Given the description of an element on the screen output the (x, y) to click on. 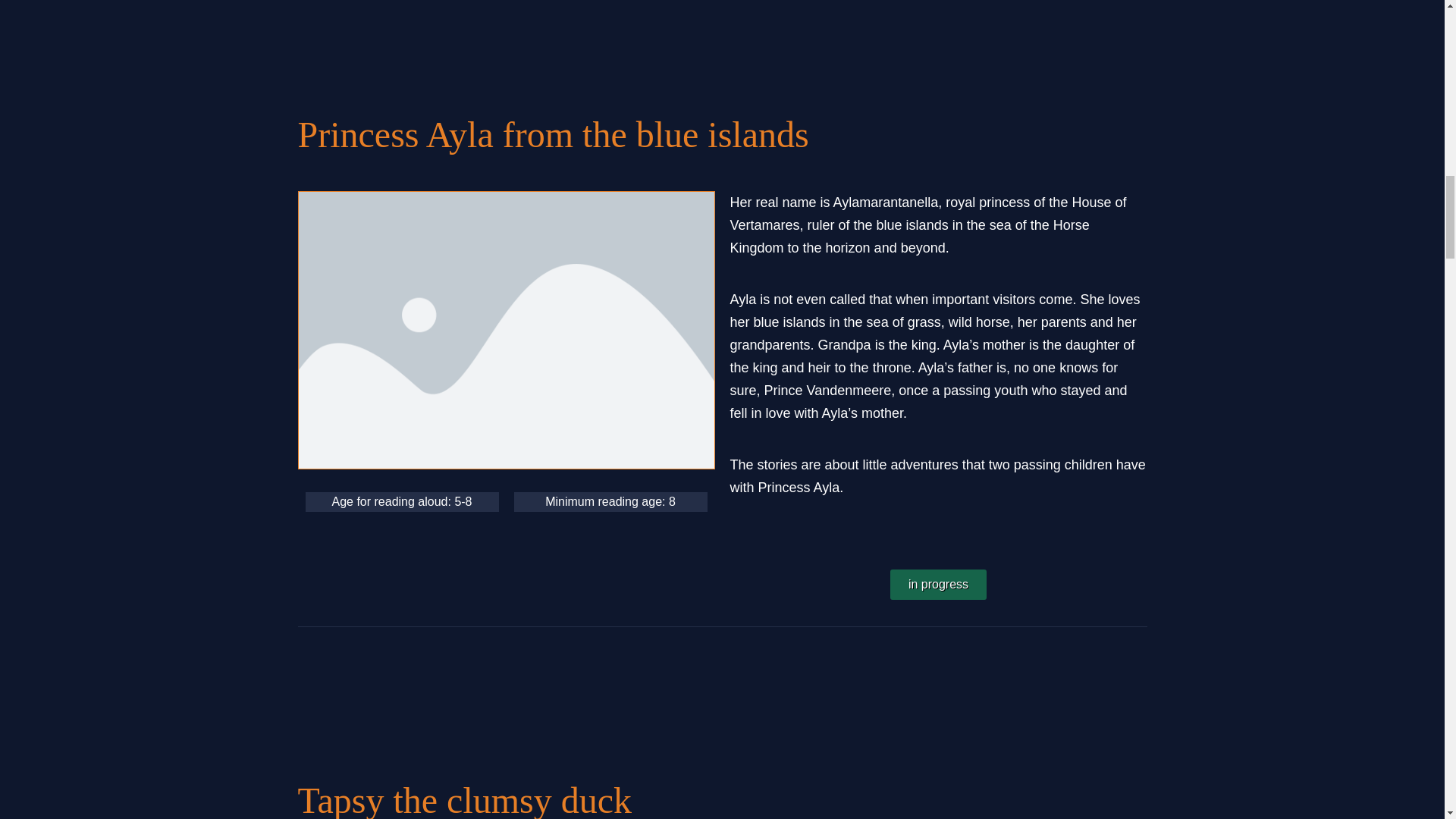
in progress (938, 584)
